Given the description of an element on the screen output the (x, y) to click on. 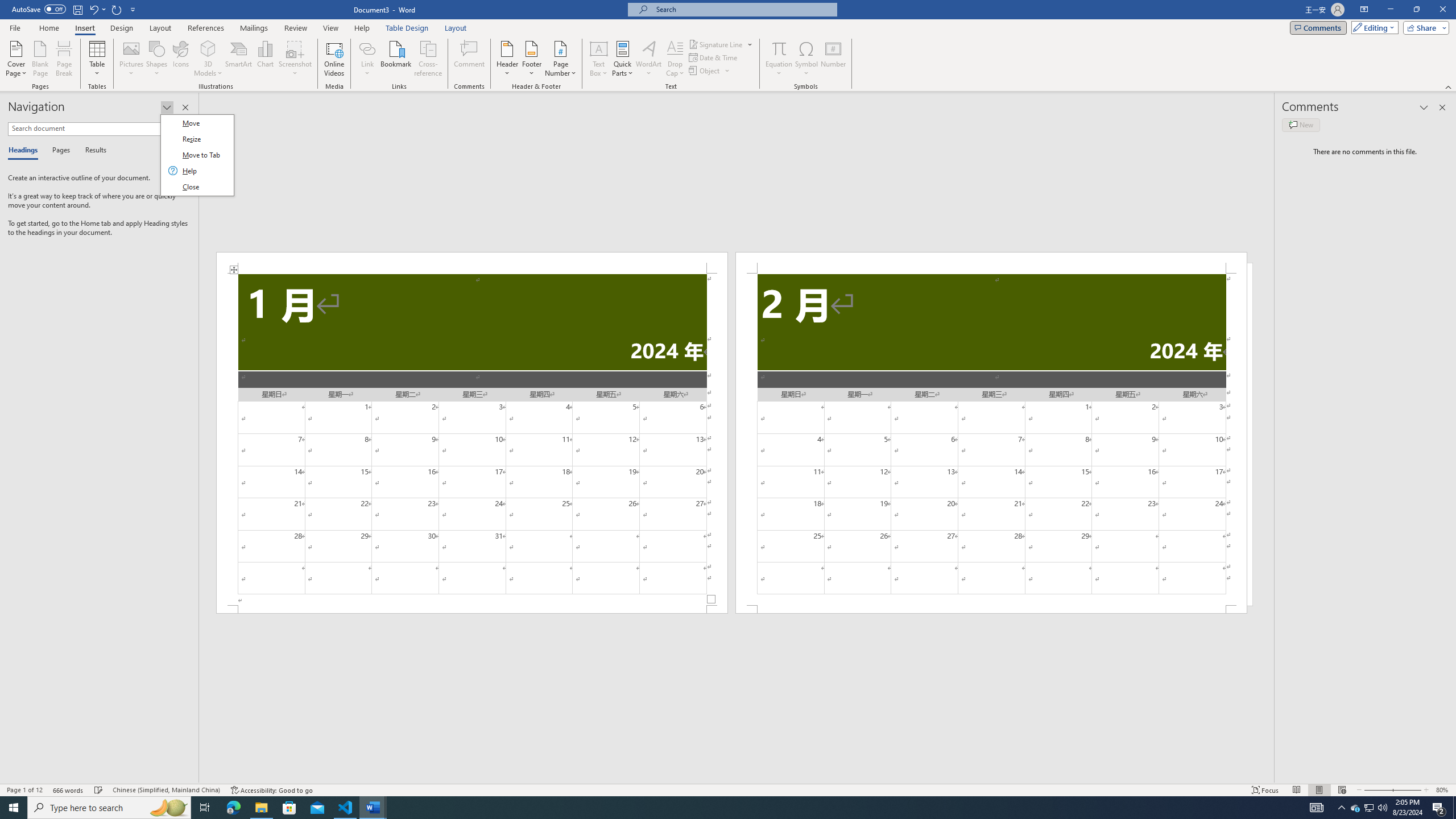
Repeat Doc Close (117, 9)
3D Models (208, 58)
Pictures (131, 58)
Page Number (560, 58)
Headings (25, 150)
Equation (778, 48)
Pages (59, 150)
Footer -Section 1- (471, 609)
Date & Time... (714, 56)
Header -Section 2- (991, 263)
